Given the description of an element on the screen output the (x, y) to click on. 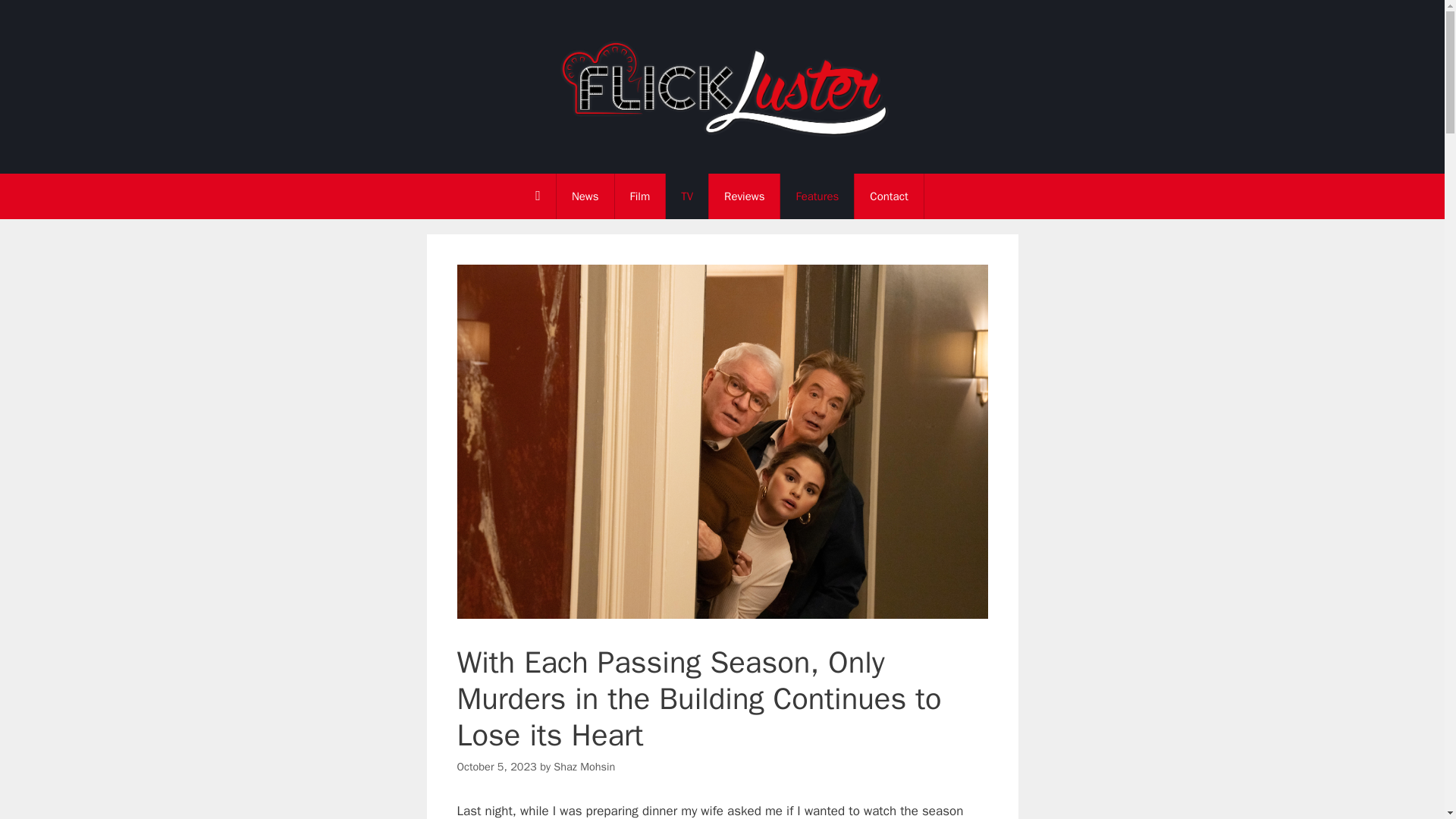
Reviews (743, 196)
Film (639, 196)
News (585, 196)
View all posts by Shaz Mohsin (583, 766)
Contact (888, 196)
Features (816, 196)
Shaz Mohsin (583, 766)
TV (686, 196)
